Given the description of an element on the screen output the (x, y) to click on. 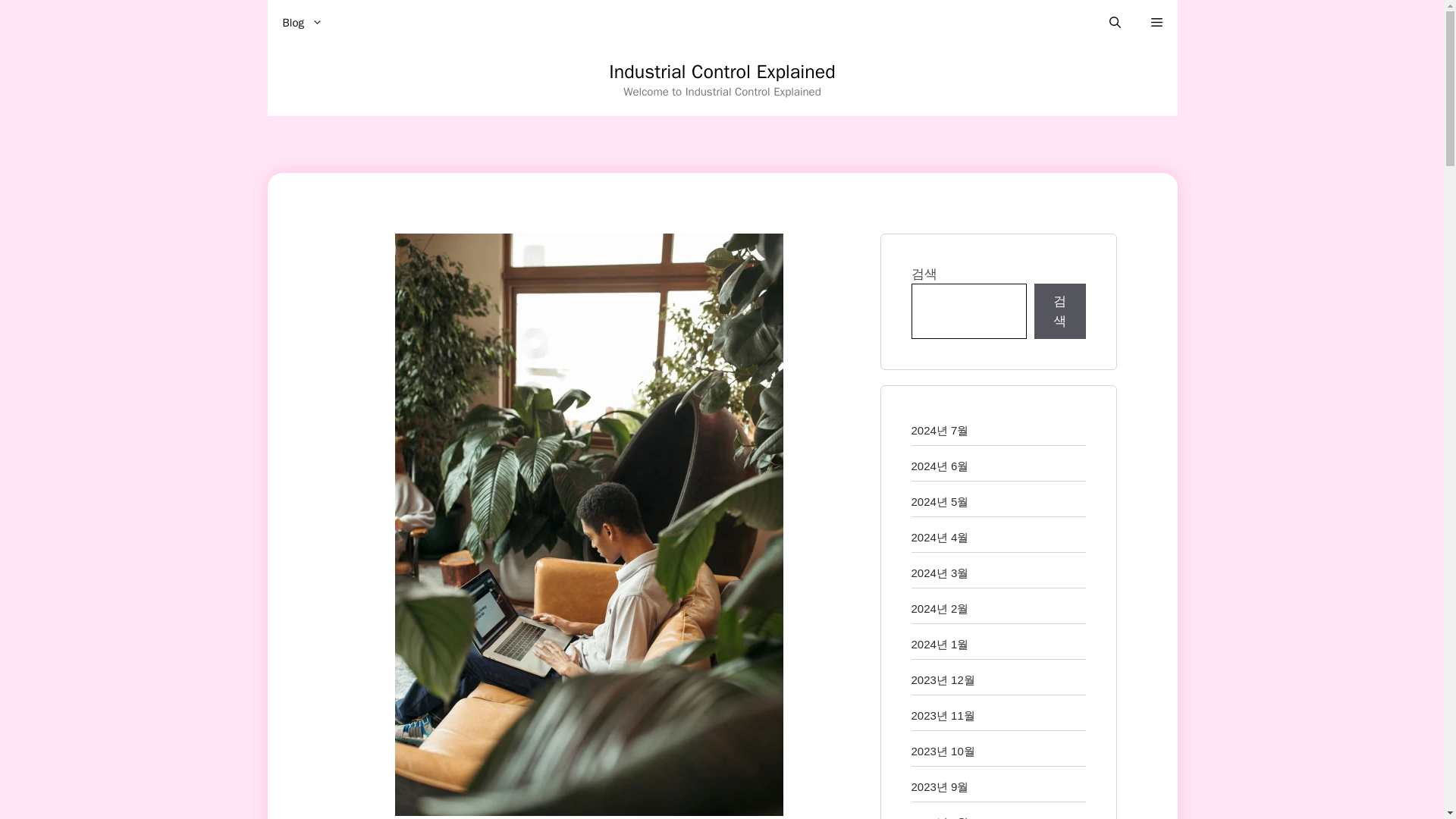
Blog (301, 22)
Industrial Control Explained (721, 71)
